Given the description of an element on the screen output the (x, y) to click on. 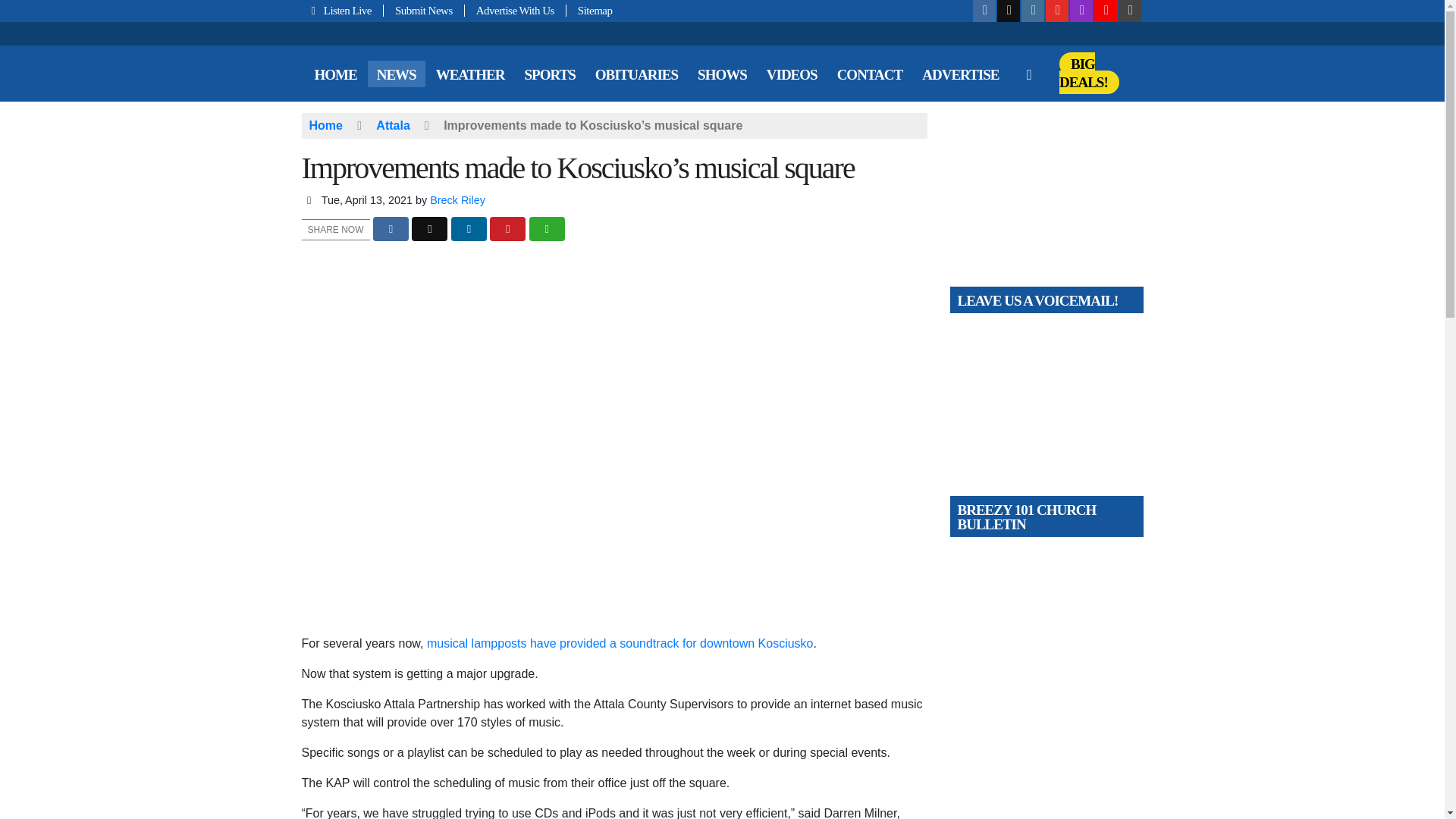
Listen Live (342, 10)
Advertise With Us (515, 10)
Follow us on Youtube (1056, 11)
Follow us on Facebook (983, 11)
Follow us on Instagram (1032, 11)
Sitemap (589, 10)
Follow our Podcast (1081, 11)
Submit News (424, 10)
Follow us on Soundcloud (1105, 11)
Follow us on X (1008, 11)
